Given the description of an element on the screen output the (x, y) to click on. 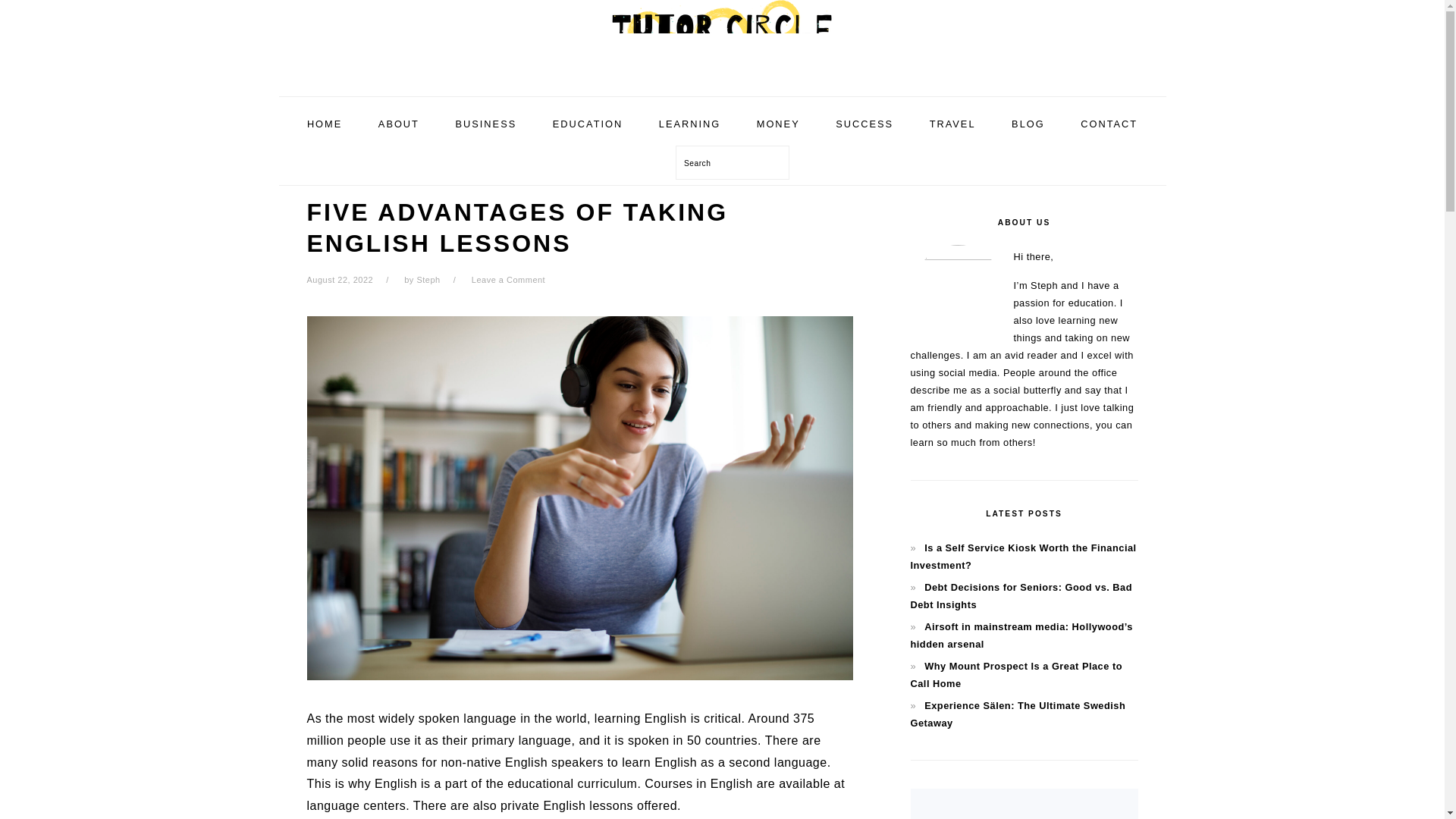
BUSINESS (485, 123)
MONEY (778, 123)
Why Mount Prospect Is a Great Place to Call Home (1015, 674)
LEARNING (689, 123)
Tutor Circle (721, 79)
Is a Self Service Kiosk Worth the Financial Investment? (1022, 556)
Leave a Comment (507, 279)
Tutor Circle (721, 38)
SUCCESS (863, 123)
